Given the description of an element on the screen output the (x, y) to click on. 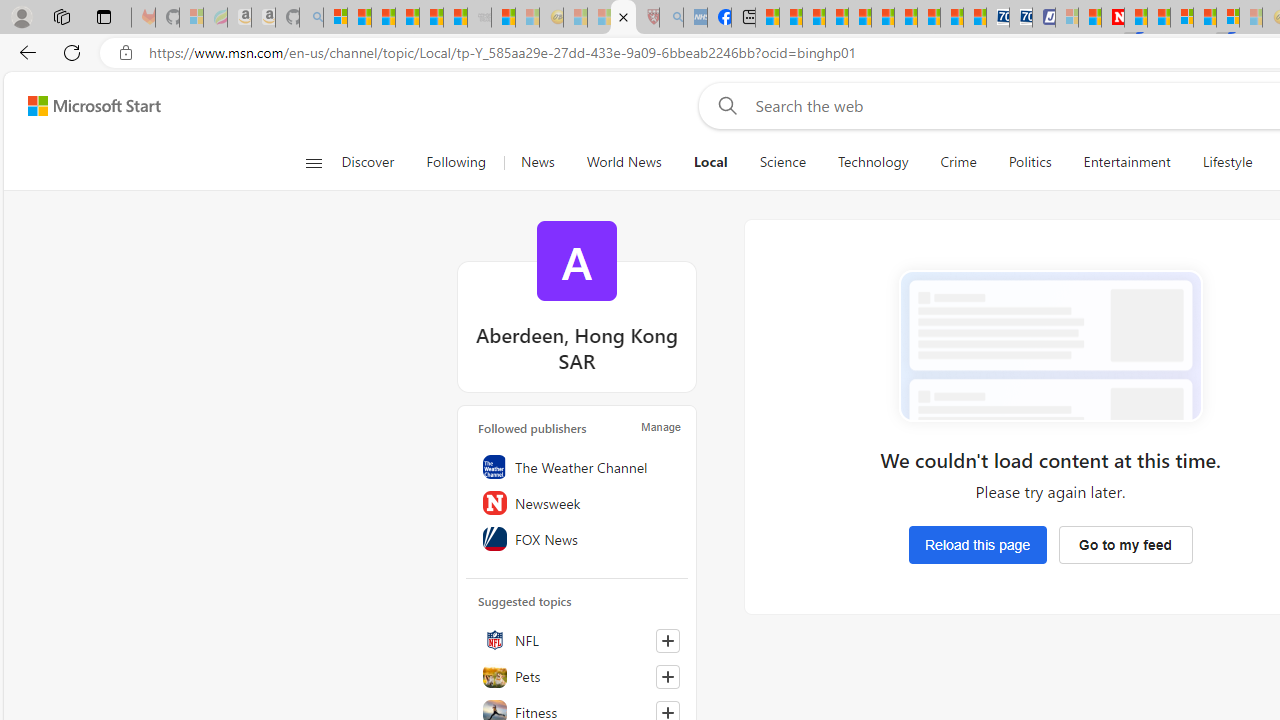
Newsweek (577, 502)
Local - MSN (622, 17)
Cheap Car Rentals - Save70.com (997, 17)
Follow this topic (667, 677)
Go to my feed (1125, 544)
